Given the description of an element on the screen output the (x, y) to click on. 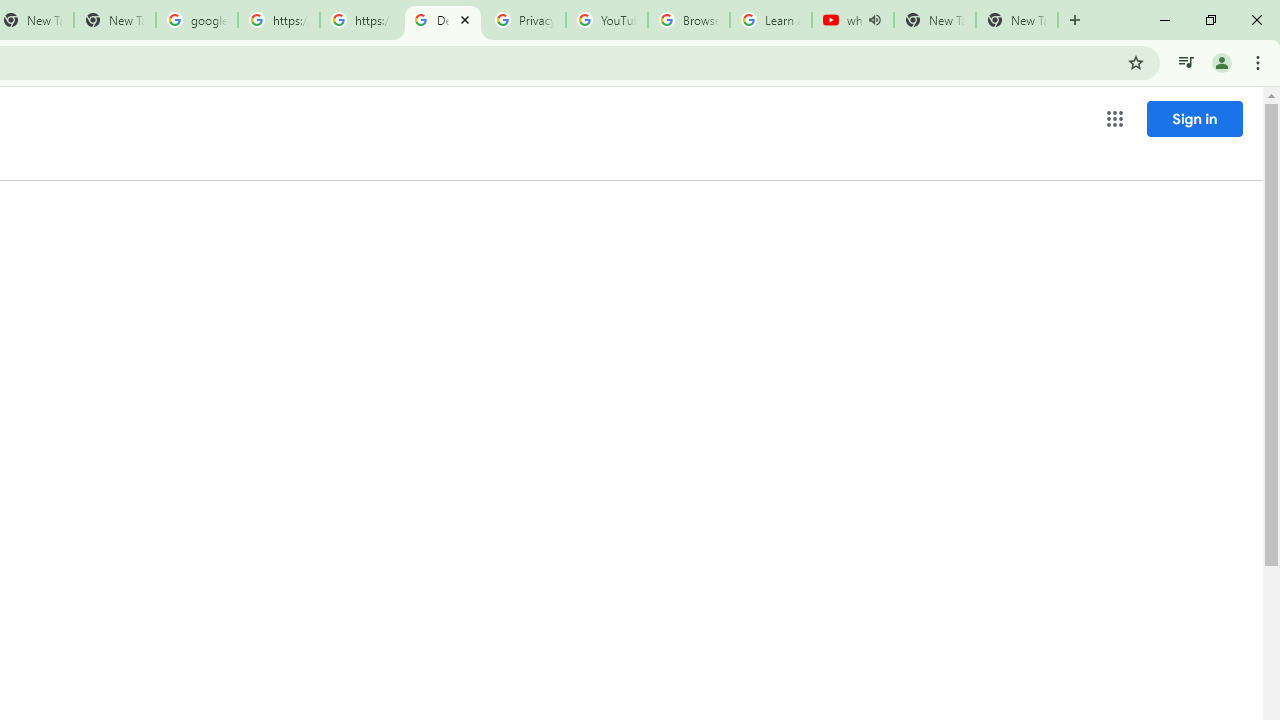
Browse Chrome as a guest - Computer - Google Chrome Help (688, 20)
Mute tab (874, 20)
New Tab (1016, 20)
